Given the description of an element on the screen output the (x, y) to click on. 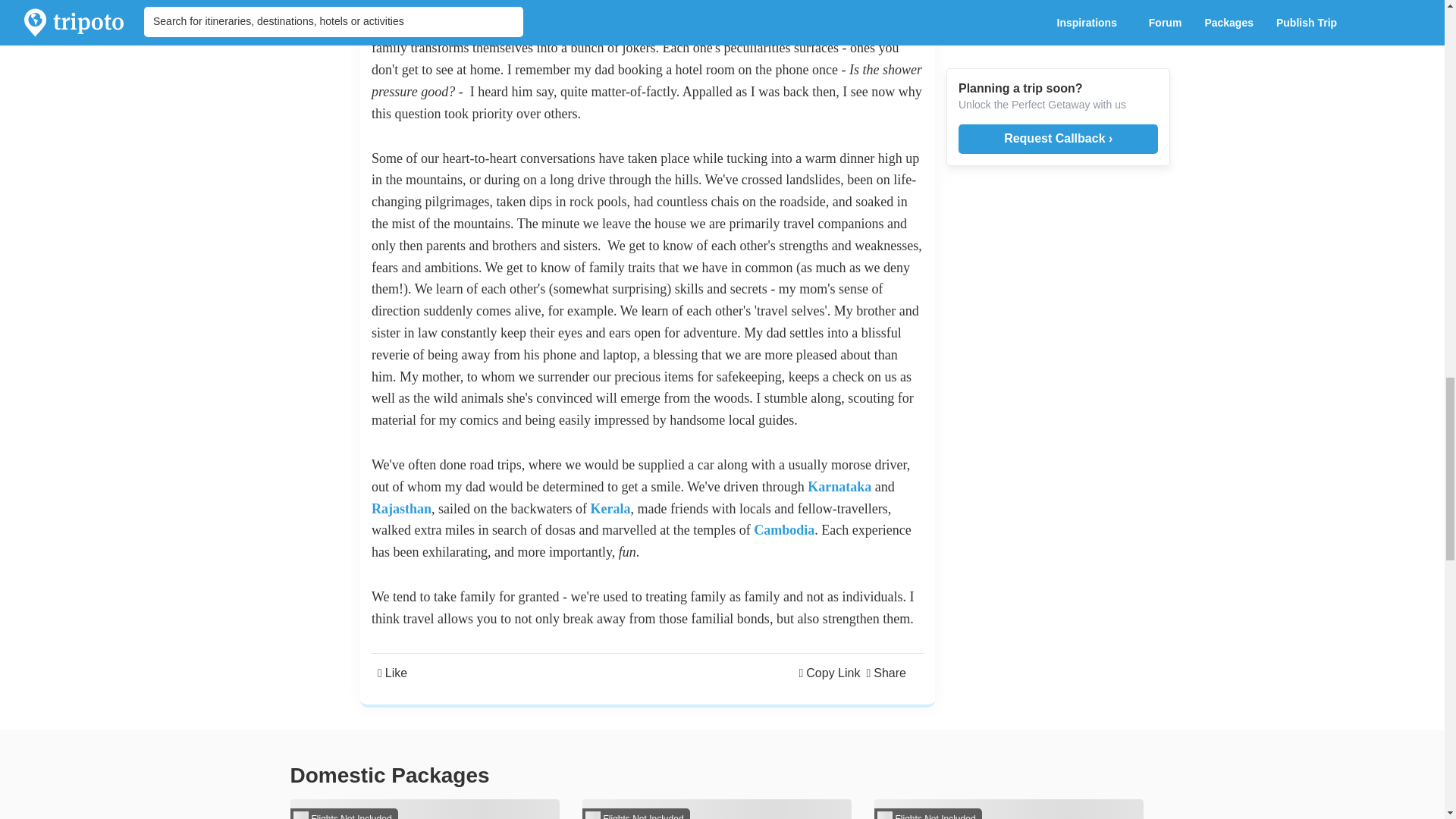
Kerala (609, 508)
Cambodia (783, 529)
Karnataka (839, 486)
Rajasthan (400, 508)
